Given the description of an element on the screen output the (x, y) to click on. 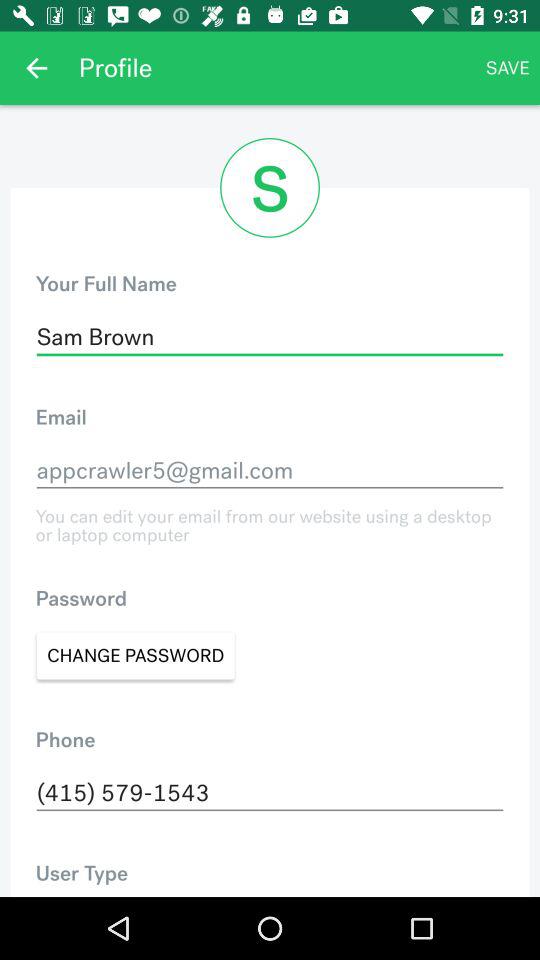
flip until appcrawler5@gmail.com item (269, 470)
